Given the description of an element on the screen output the (x, y) to click on. 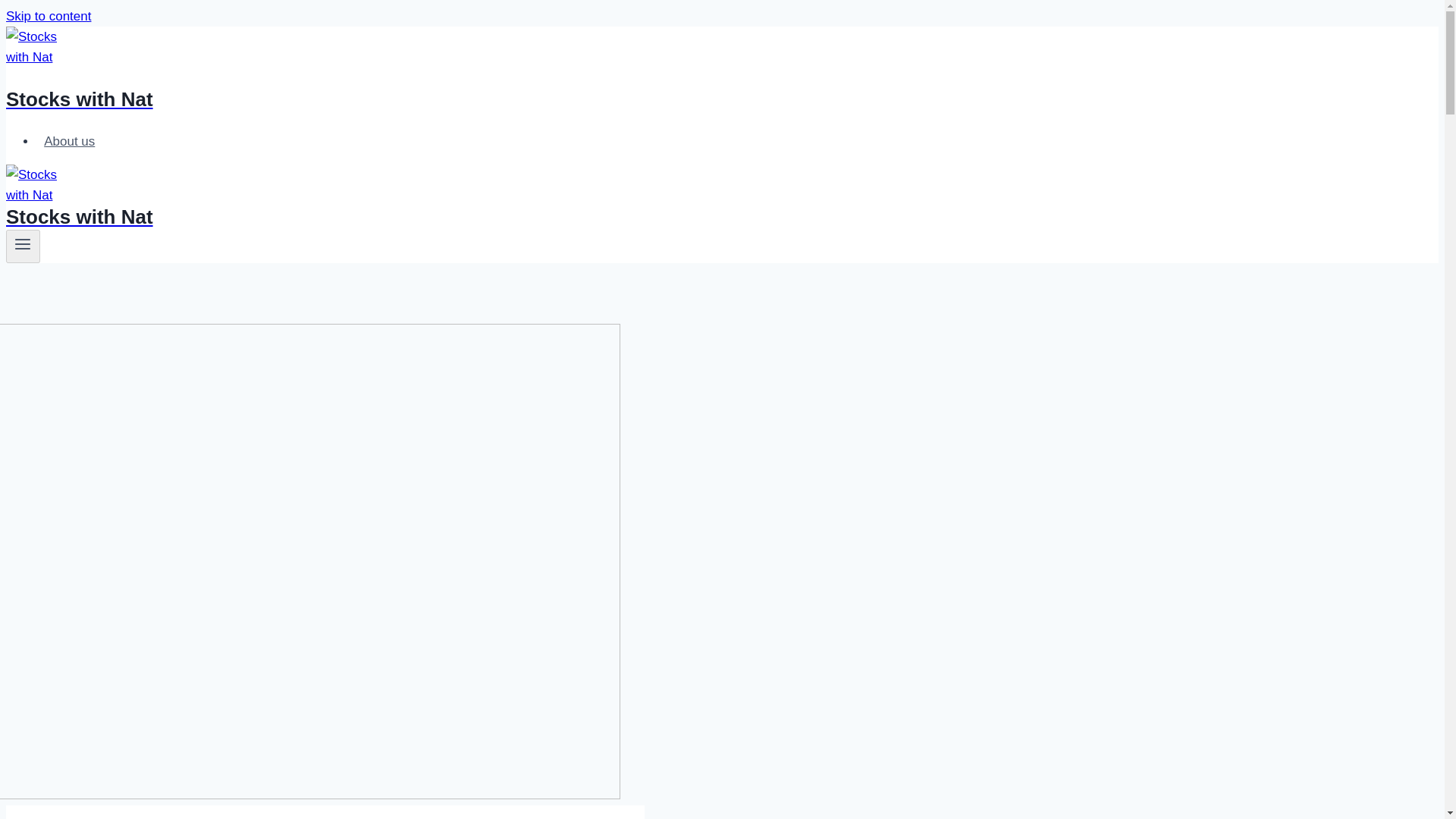
Stocks with Nat (494, 208)
Toggle Menu (22, 245)
Toggle Menu (22, 244)
Skip to content (47, 16)
Skip to content (47, 16)
About us (68, 141)
Stocks with Nat (494, 79)
